Given the description of an element on the screen output the (x, y) to click on. 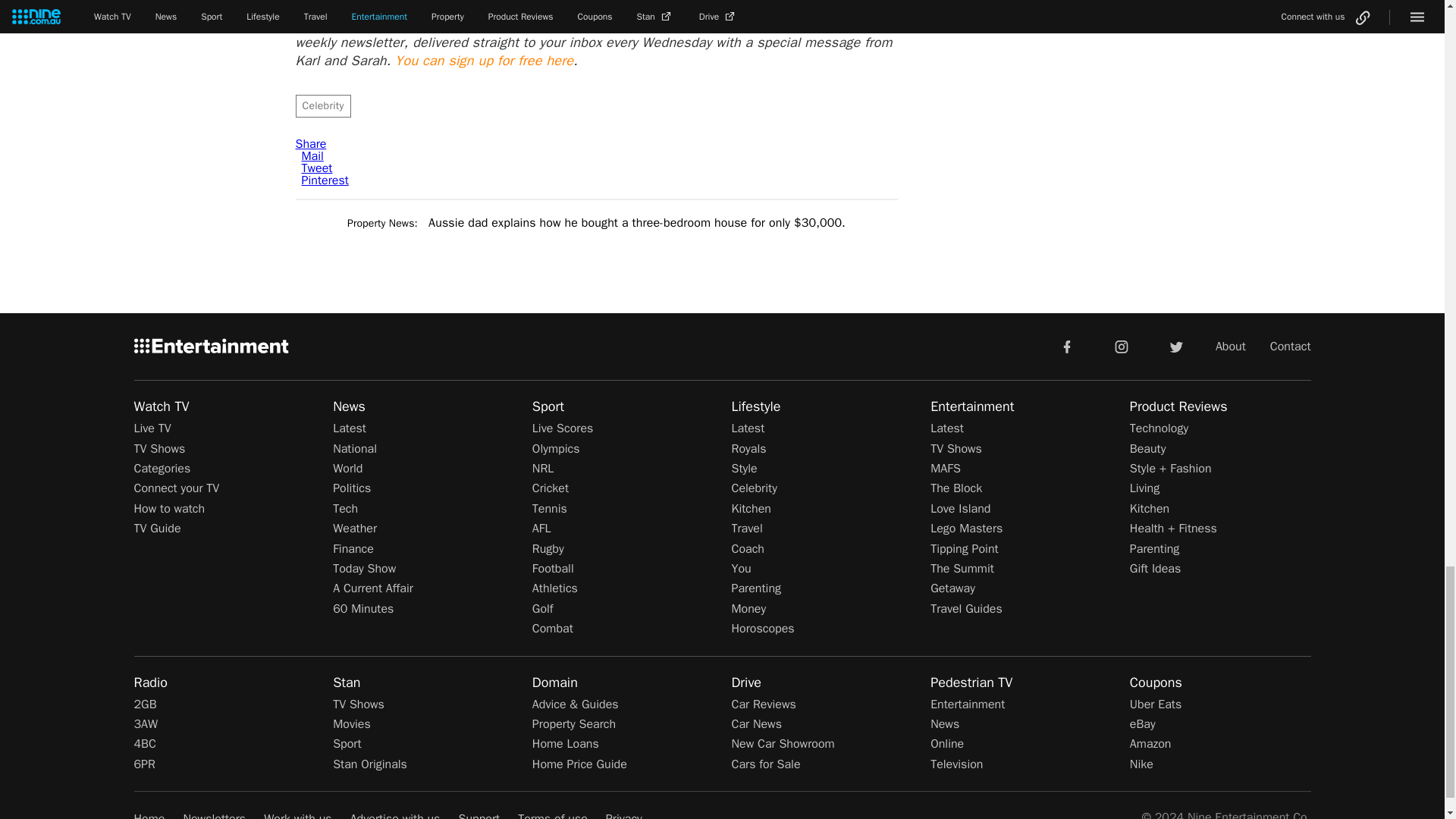
Celebrity (322, 106)
About (1230, 346)
twitter (1175, 345)
Pinterest (325, 180)
You can sign up for free here (483, 60)
Tweet (317, 168)
facebook (1066, 345)
Mail (312, 155)
instagram (1121, 345)
Contact (1290, 346)
